Given the description of an element on the screen output the (x, y) to click on. 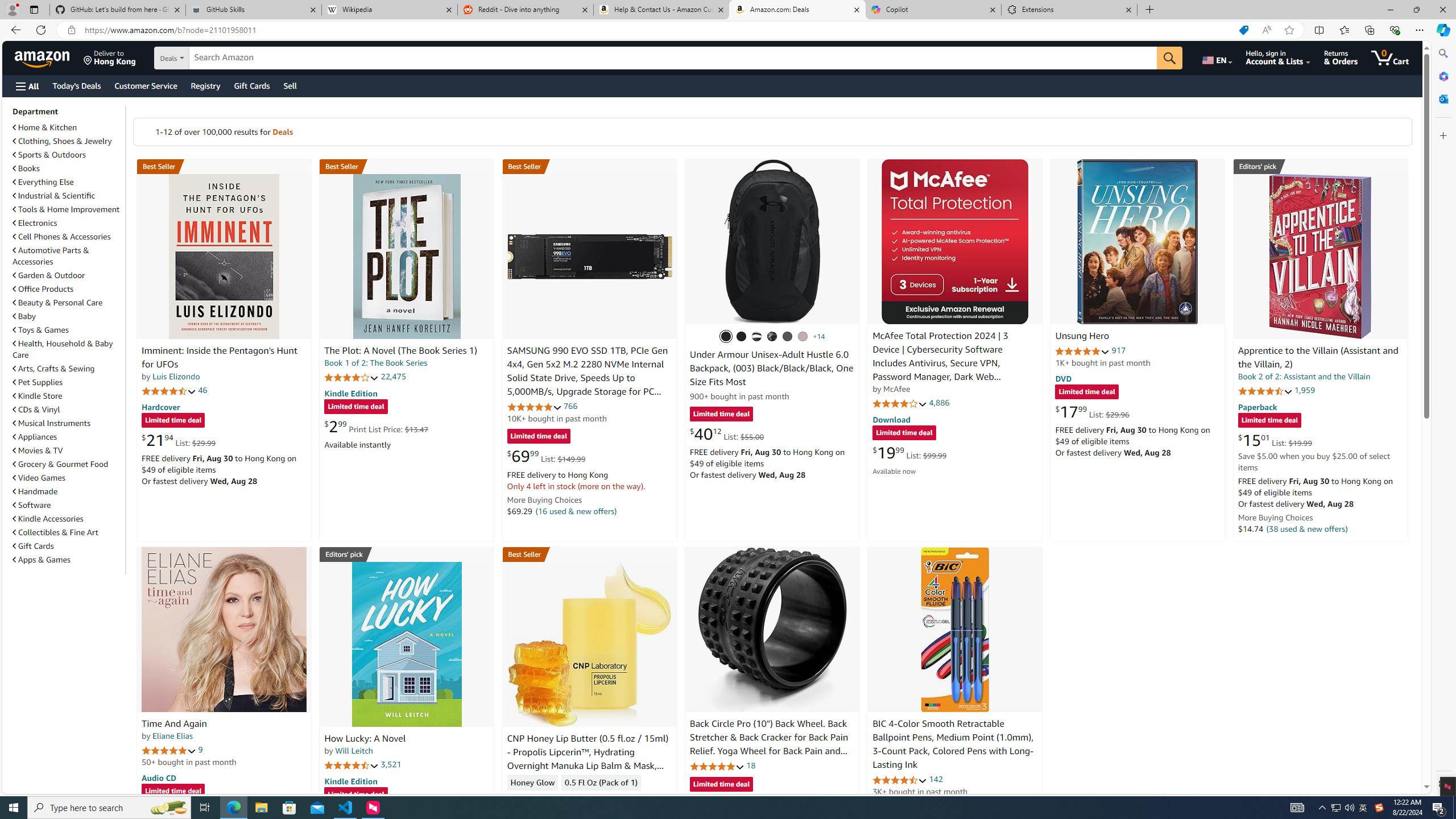
4.3 out of 5 stars (534, 799)
Office Products (67, 288)
Health, Household & Baby Care (63, 349)
Grocery & Gourmet Food (61, 463)
$19.99 List: $99.99 (909, 452)
Electronics (67, 222)
Beauty & Personal Care (67, 301)
Garden & Outdoor (67, 274)
Returns & Orders (1340, 57)
+14 (818, 336)
Hello, sign in Account & Lists (1278, 57)
Editors' pick Best Science Fiction & Fantasy (1320, 165)
